Given the description of an element on the screen output the (x, y) to click on. 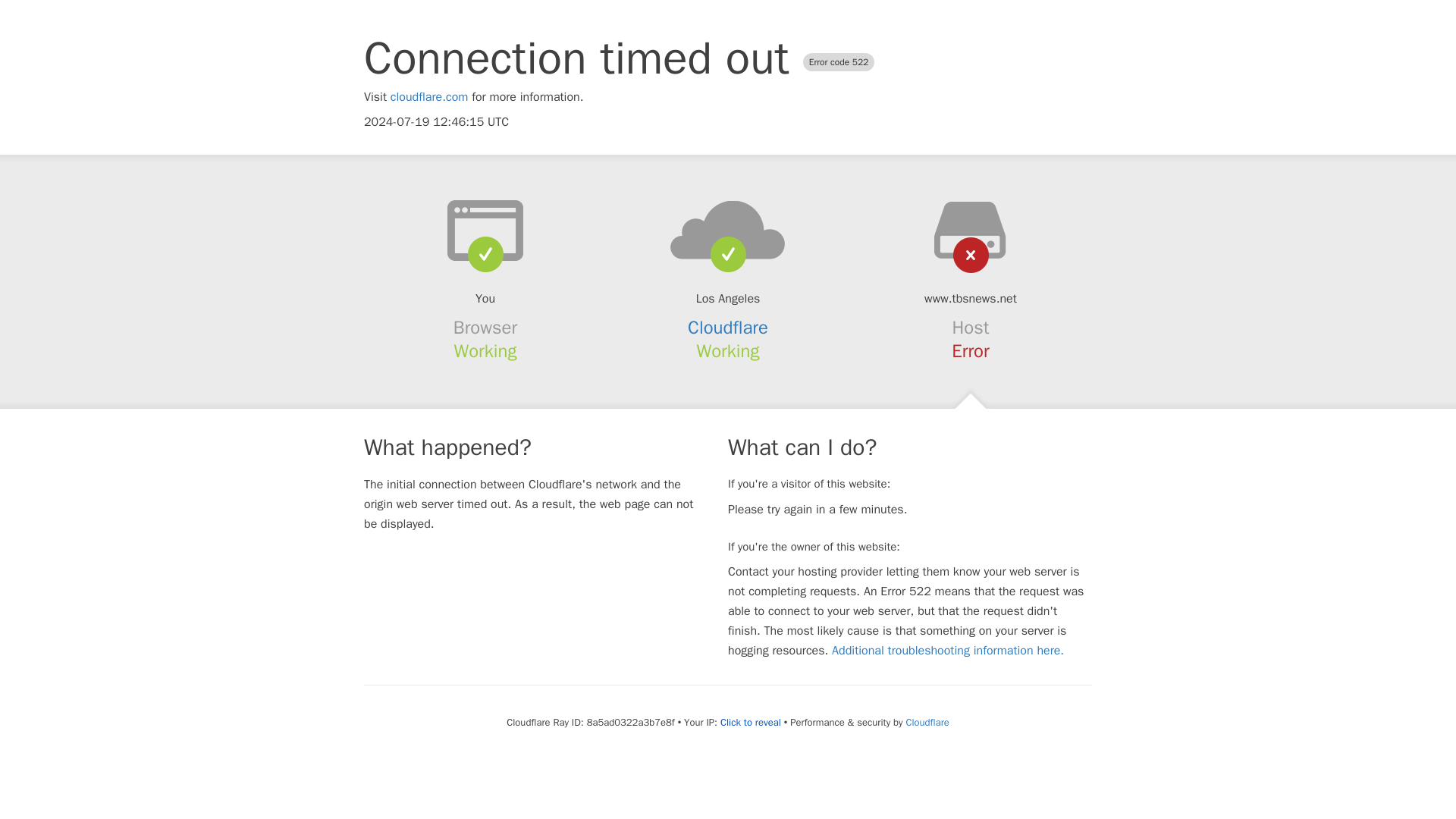
Additional troubleshooting information here. (947, 650)
Click to reveal (750, 722)
cloudflare.com (429, 96)
Cloudflare (727, 327)
Cloudflare (927, 721)
